Given the description of an element on the screen output the (x, y) to click on. 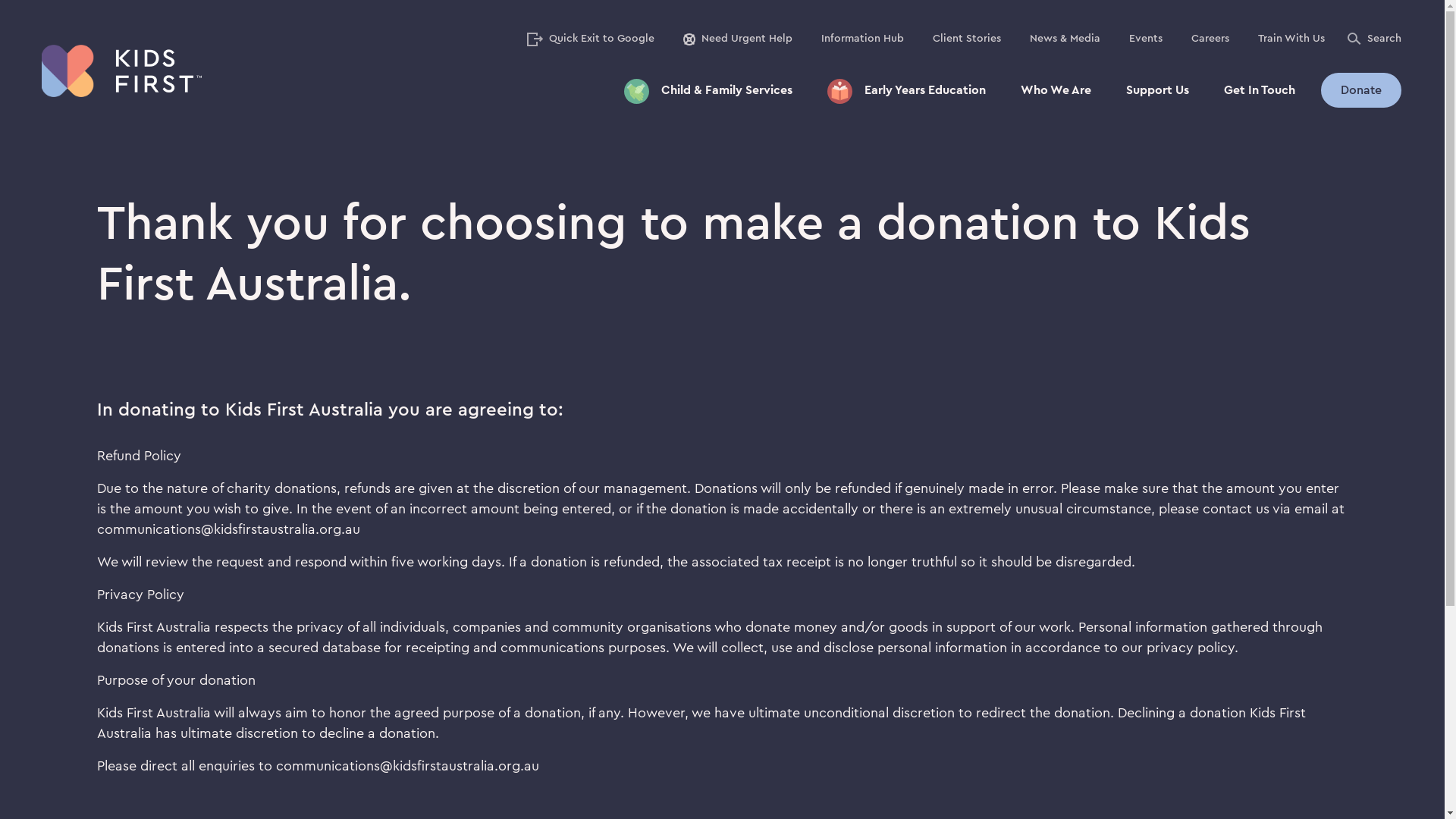
Donate Element type: text (1360, 90)
Early Years Education Element type: text (906, 89)
Child & Family Services Element type: text (708, 89)
Careers Element type: text (1209, 38)
Close Element type: hover (1424, 19)
Train With Us Element type: text (1291, 38)
Donate Element type: text (1361, 89)
Quick Exit to Google Element type: text (590, 38)
Get In Touch Element type: text (1259, 89)
News & Media Element type: text (1064, 38)
Support Us Element type: text (1157, 89)
Need Urgent Help Element type: text (737, 38)
Who We Are Element type: text (1055, 89)
Search Element type: text (1373, 38)
Events Element type: text (1145, 38)
Information Hub Element type: text (862, 38)
Client Stories Element type: text (966, 38)
